Given the description of an element on the screen output the (x, y) to click on. 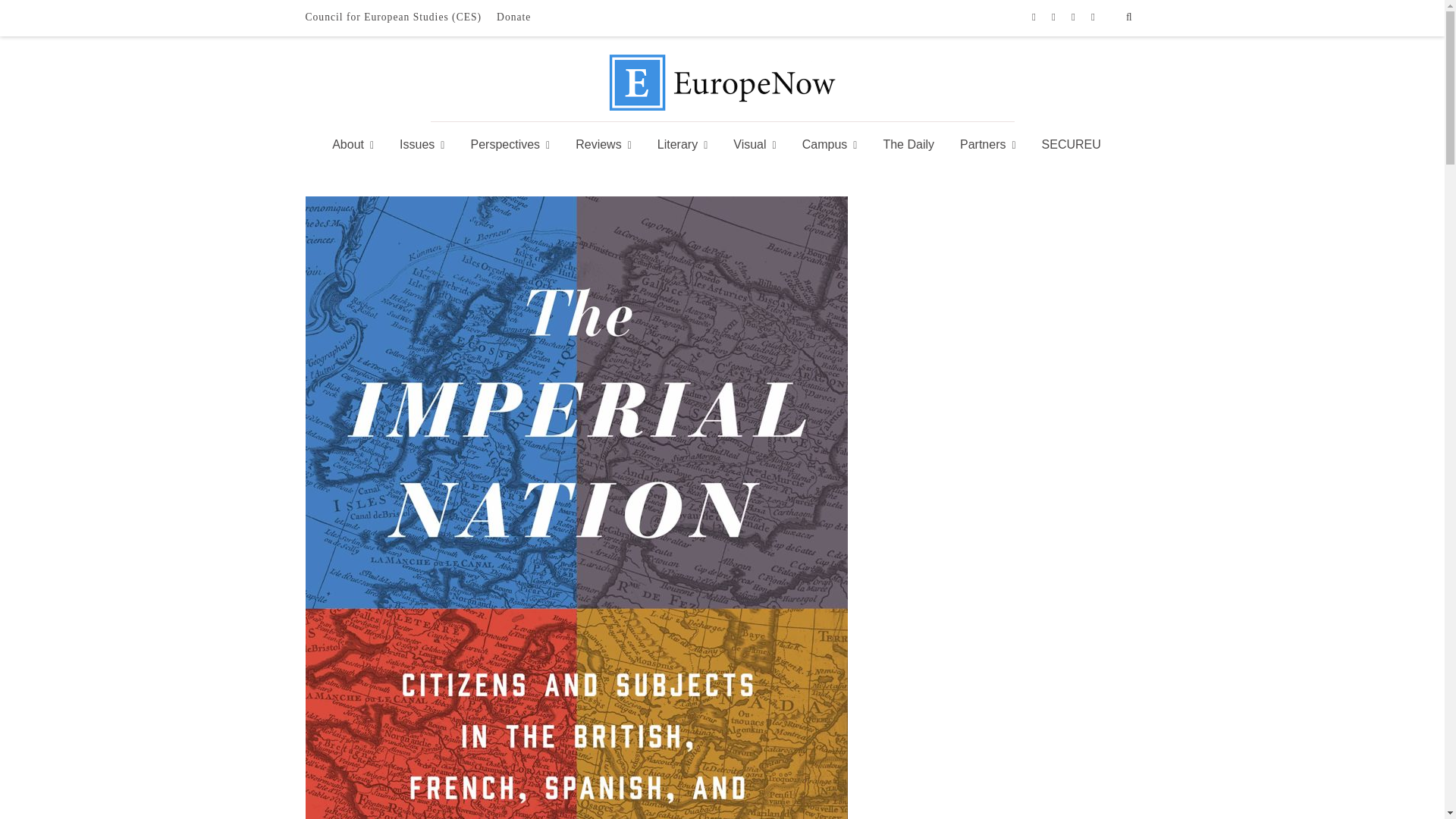
Literary (682, 145)
Visual (754, 145)
Issues (421, 145)
About (358, 145)
EuropeNow (721, 107)
Donate (513, 17)
Perspectives (509, 145)
Reviews (603, 145)
